Given the description of an element on the screen output the (x, y) to click on. 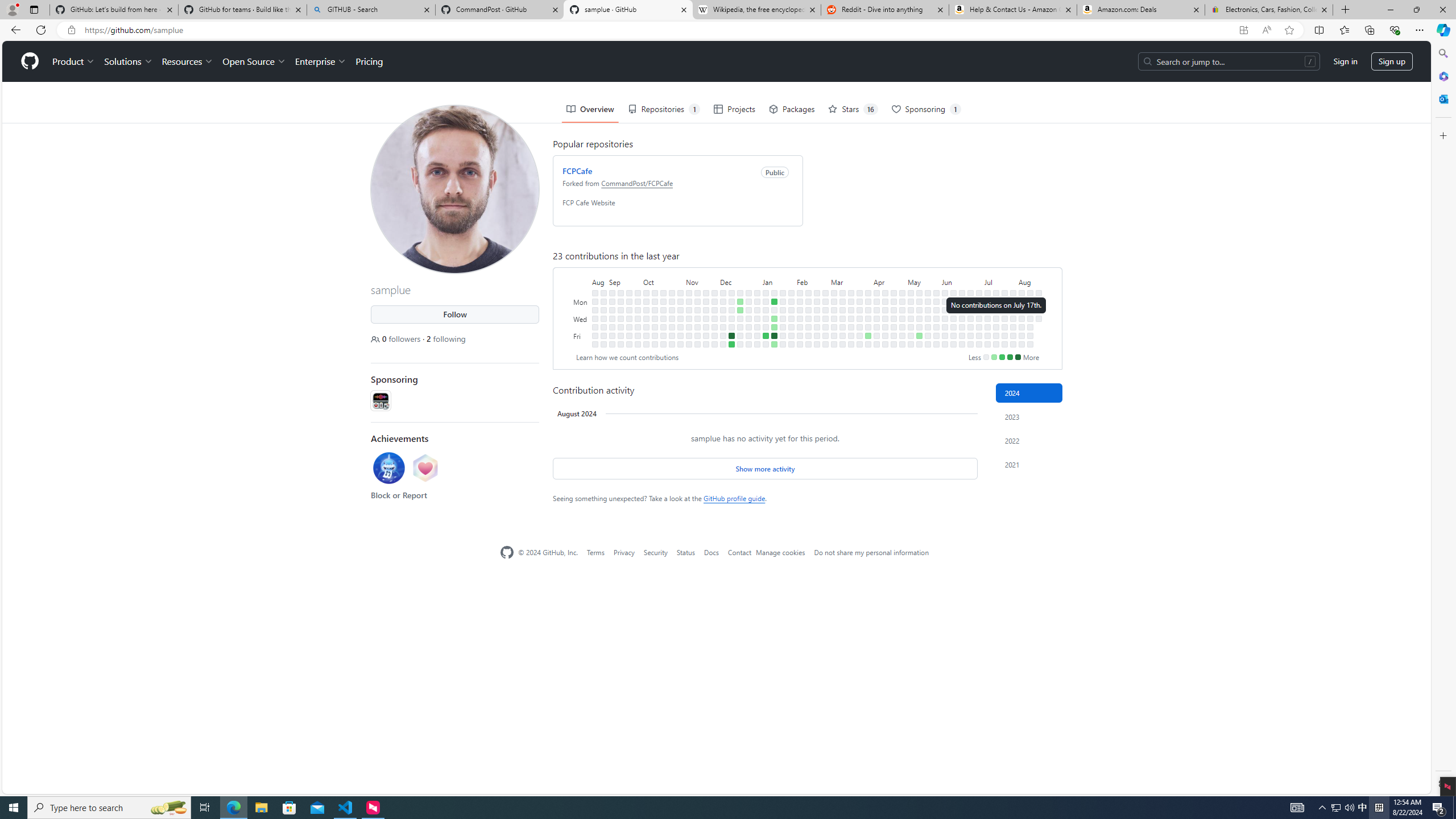
No contributions on January 3rd. (757, 318)
Achievement: Pull Shark (389, 467)
Monday (581, 301)
Product (74, 60)
No contributions on April 10th. (876, 318)
No contributions on June 11th. (953, 309)
Achievements (400, 437)
No contributions on May 15th. (919, 318)
No contributions on January 28th. (790, 292)
No contributions on May 2nd. (902, 326)
No contributions on February 6th. (799, 309)
2 contributions on January 15th. (774, 301)
No contributions on July 8th. (987, 301)
No contributions on March 2nd. (825, 343)
